Given the description of an element on the screen output the (x, y) to click on. 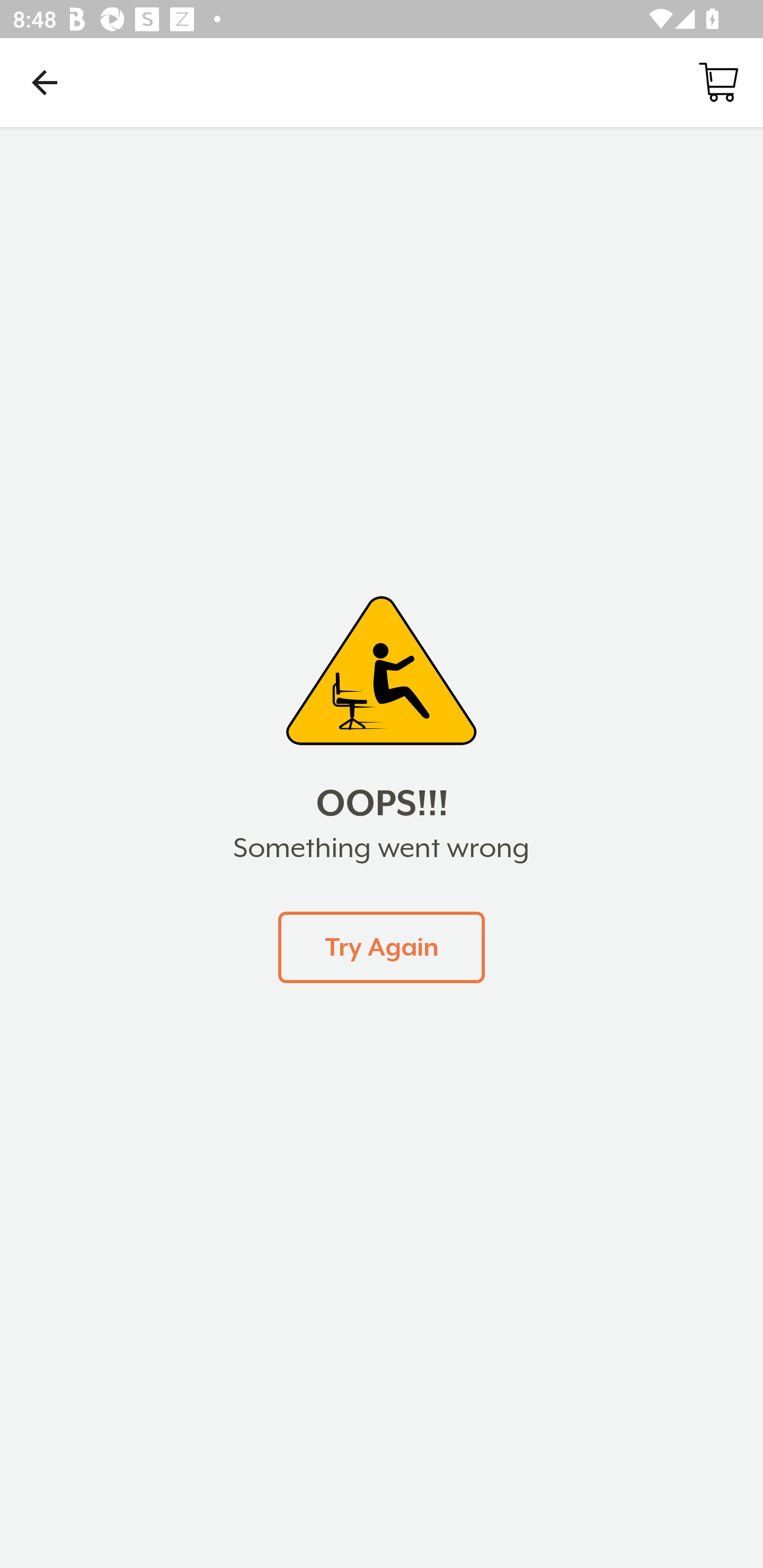
Navigate up (44, 82)
Cart (718, 81)
Try Again (381, 947)
